Given the description of an element on the screen output the (x, y) to click on. 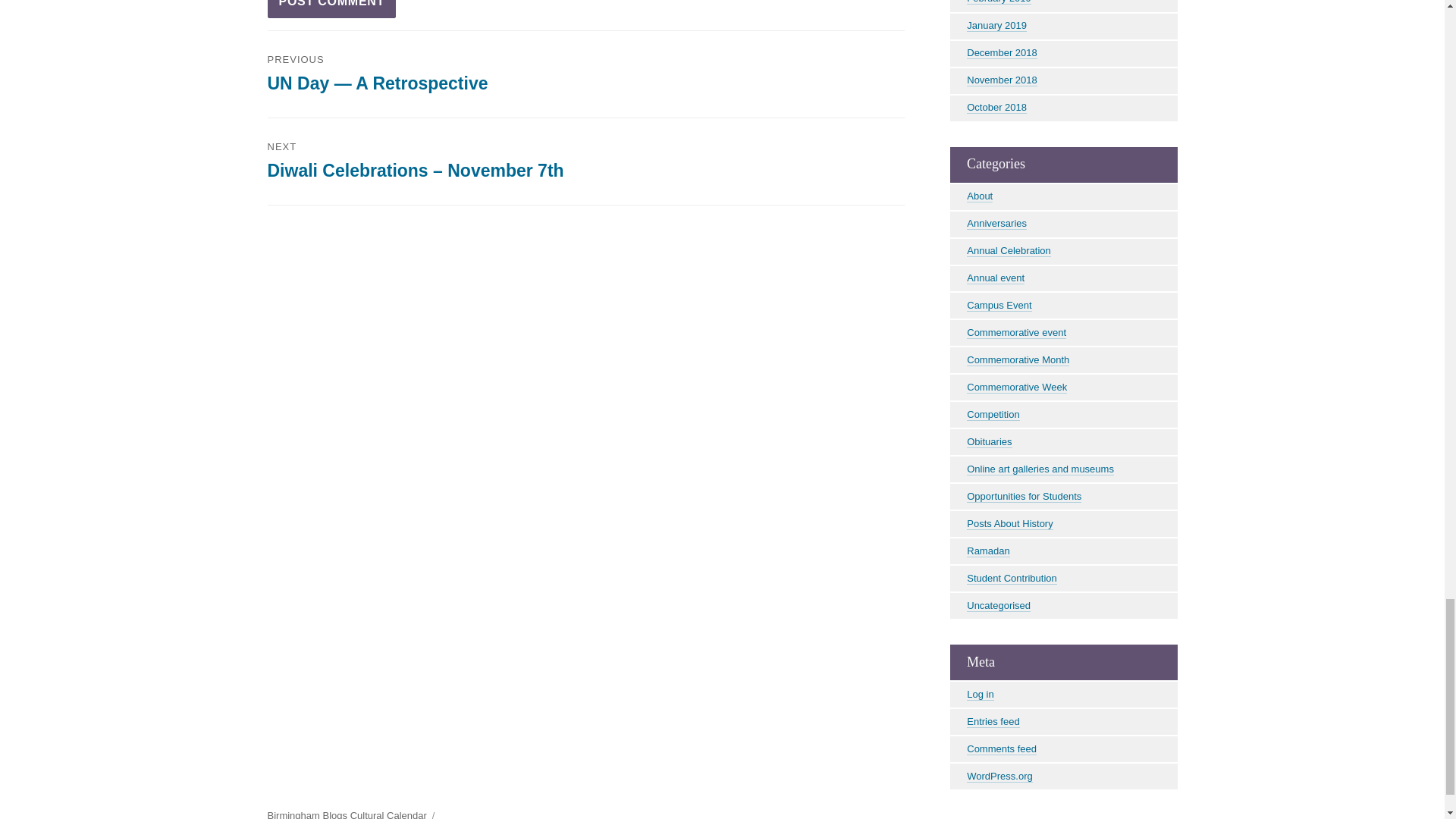
Post Comment (331, 9)
Post Comment (331, 9)
